Given the description of an element on the screen output the (x, y) to click on. 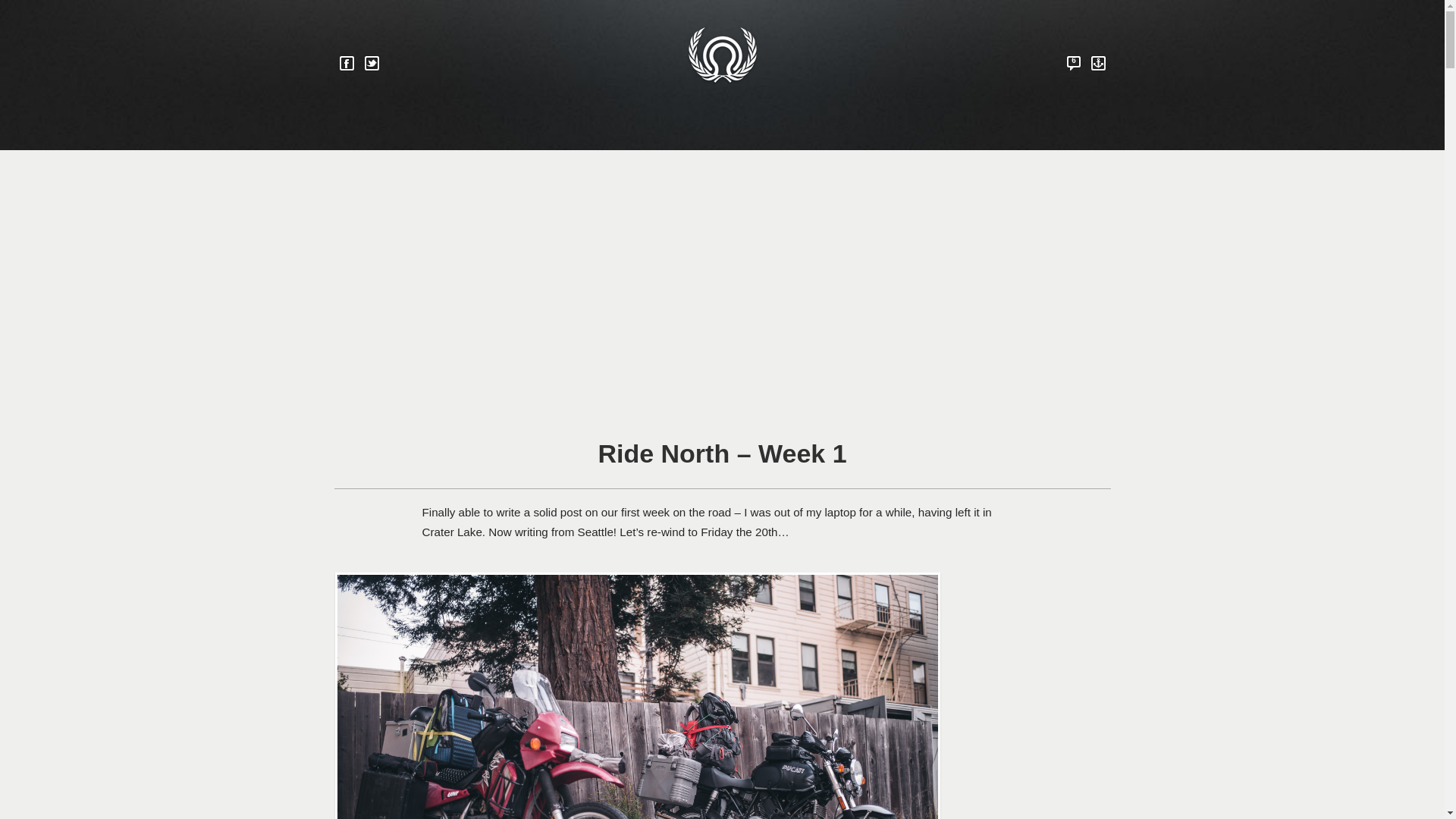
Cocoia (721, 58)
